Given the description of an element on the screen output the (x, y) to click on. 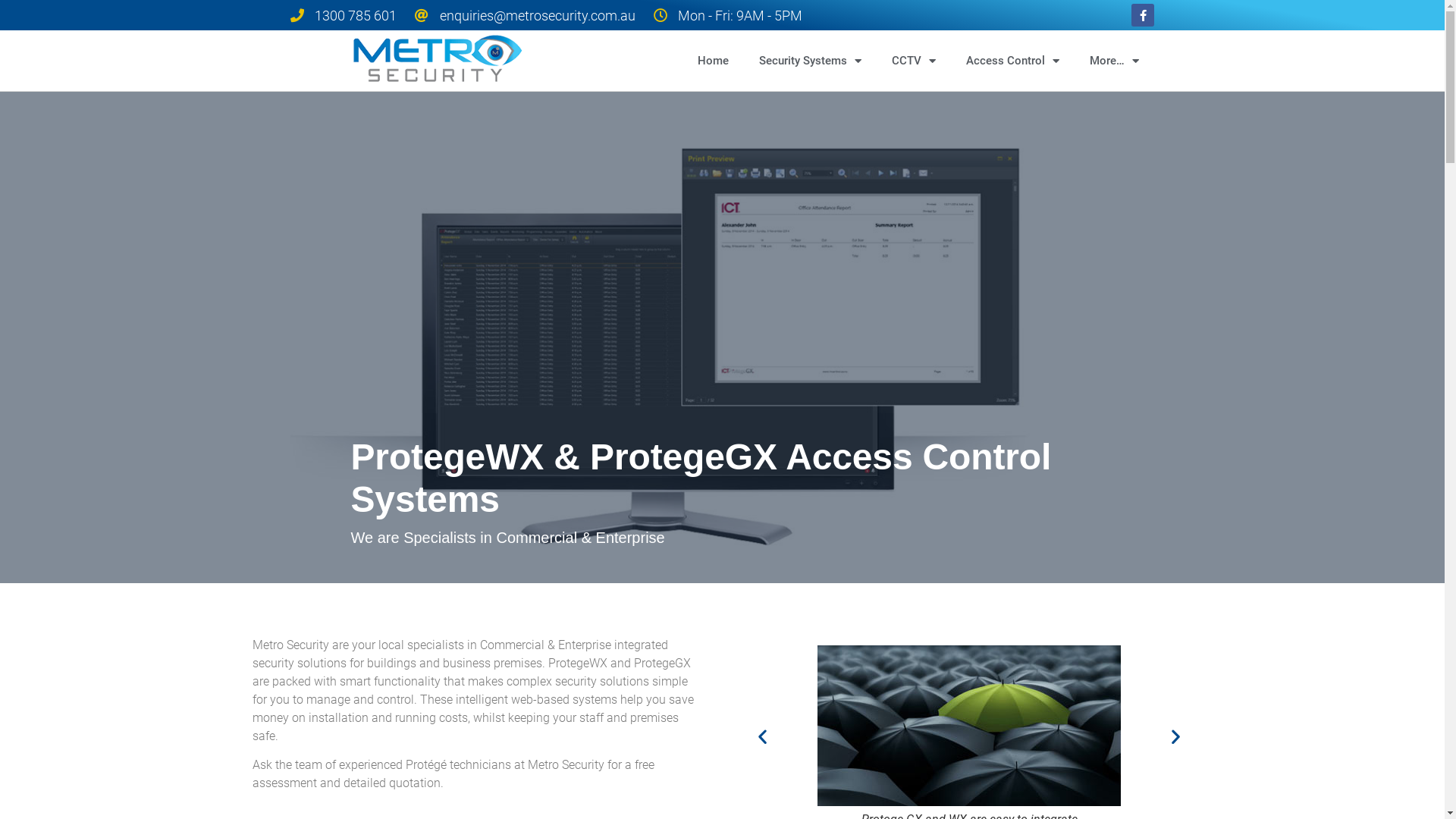
Security Systems Element type: text (809, 60)
Home Element type: text (712, 60)
Access Control Element type: text (1012, 60)
1300 785 601 Element type: text (342, 14)
CCTV Element type: text (913, 60)
enquiries@metrosecurity.com.au Element type: text (524, 14)
